Given the description of an element on the screen output the (x, y) to click on. 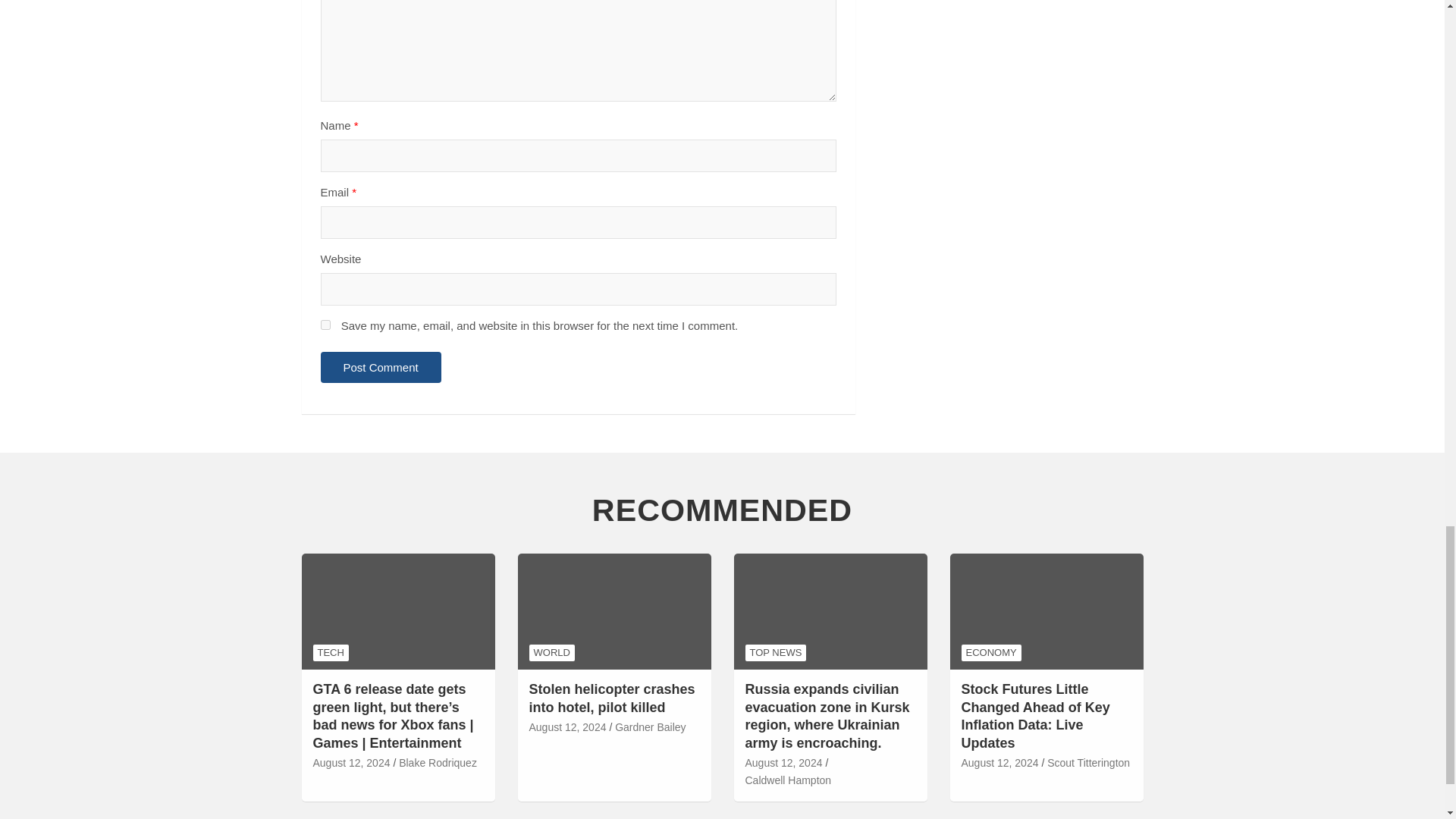
Blake Rodriquez (437, 763)
yes (325, 325)
Stolen helicopter crashes into hotel, pilot killed (568, 727)
Post Comment (380, 367)
TECH (330, 652)
Post Comment (380, 367)
August 12, 2024 (351, 763)
